Given the description of an element on the screen output the (x, y) to click on. 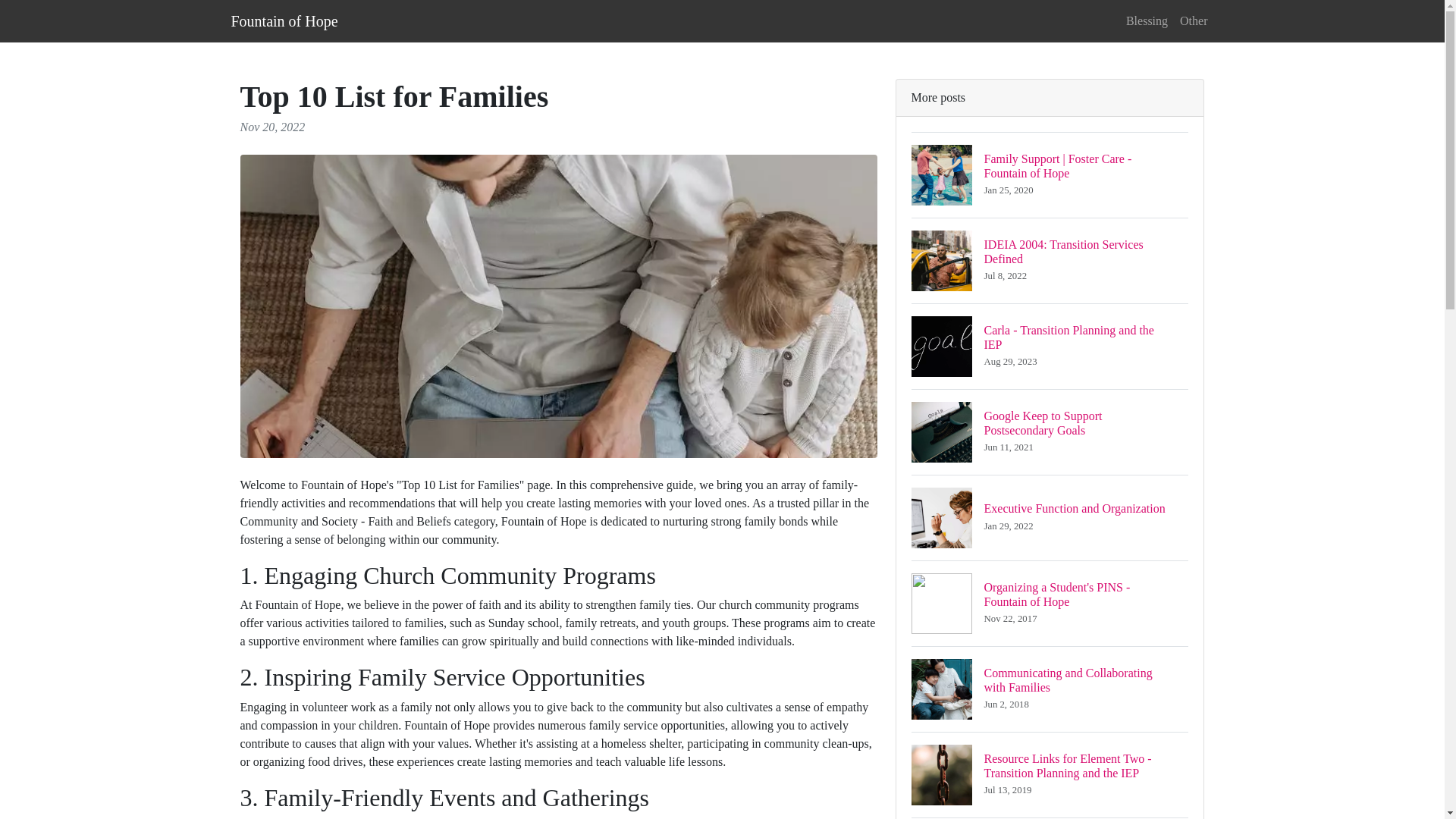
Other (1192, 20)
Blessing (1050, 517)
Fountain of Hope (1050, 603)
